Given the description of an element on the screen output the (x, y) to click on. 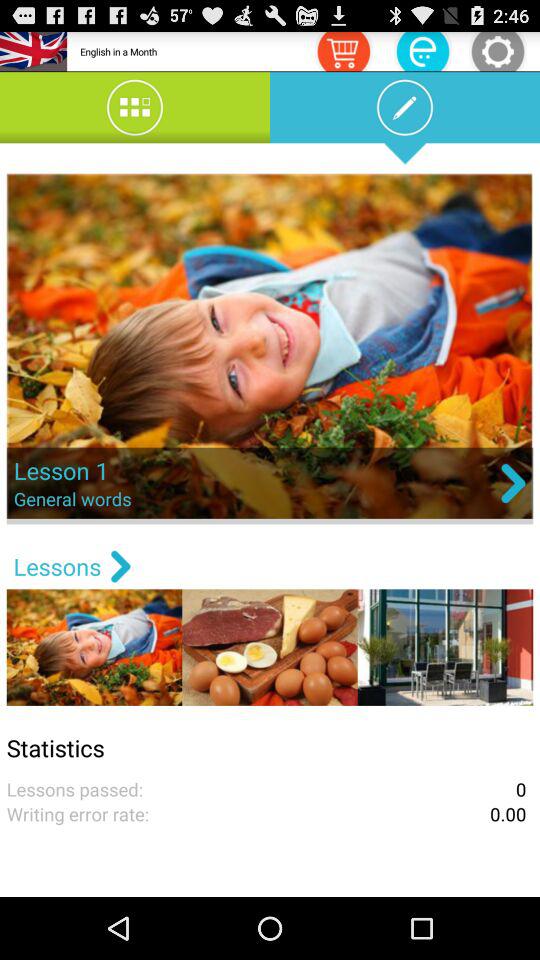
view your shopping cart (343, 50)
